Given the description of an element on the screen output the (x, y) to click on. 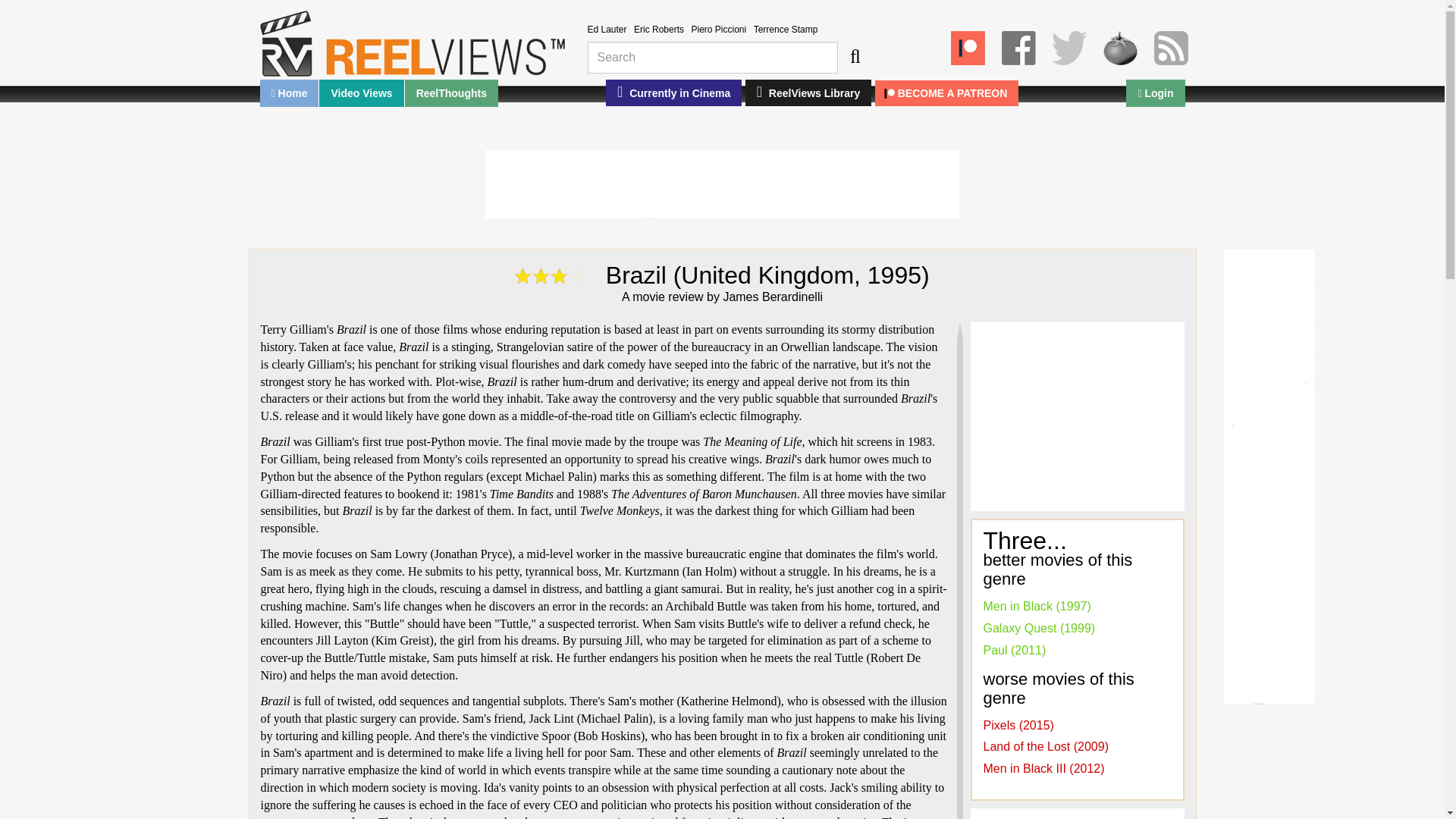
Terrence Stamp (786, 29)
Looking for Piero Piccioni? (717, 29)
Login (1155, 93)
Home (288, 93)
ReelThoughts (450, 93)
Video Views (361, 93)
Login (1155, 93)
Looking for Ed Lauter? (606, 29)
BECOME A PATREON (947, 93)
Piero Piccioni (717, 29)
ReelViews Library (808, 92)
Looking for Terrence Stamp? (786, 29)
Looking for Eric Roberts? (658, 29)
Eric Roberts (658, 29)
Ed Lauter (606, 29)
